Given the description of an element on the screen output the (x, y) to click on. 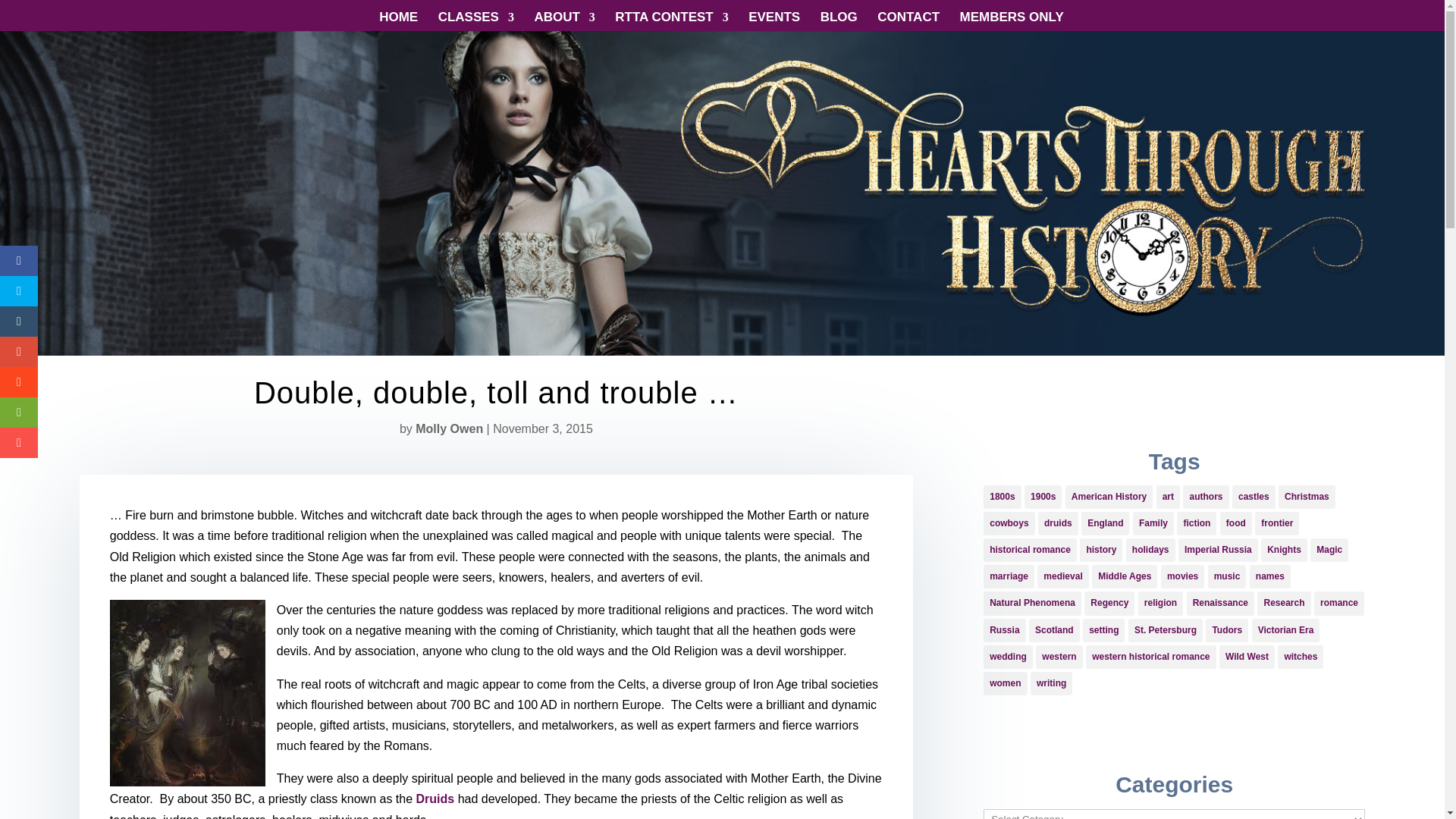
ABOUT (564, 21)
CONTACT (908, 21)
BLOG (839, 21)
Druids (435, 798)
MEMBERS ONLY (1011, 21)
RTTA CONTEST (671, 21)
EVENTS (773, 21)
HOME (397, 21)
Molly Owen (448, 428)
Posts by Molly Owen (448, 428)
CLASSES (475, 21)
